Given the description of an element on the screen output the (x, y) to click on. 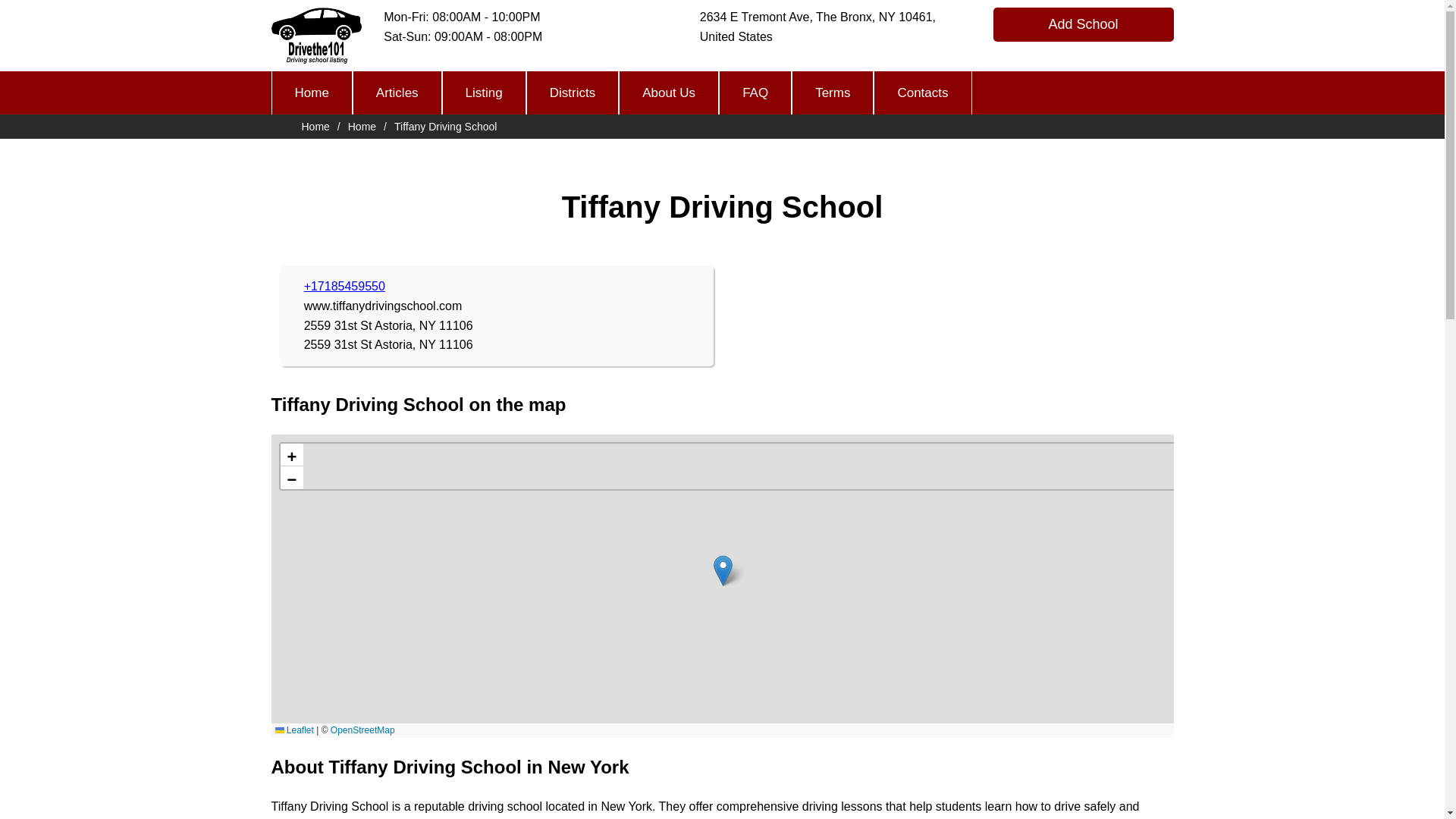
Home (361, 126)
Add School (1082, 24)
Terms (832, 92)
Home (315, 126)
OpenStreetMap (362, 729)
Leaflet (294, 729)
Zoom in (291, 454)
FAQ (755, 92)
A JavaScript library for interactive maps (294, 729)
Zoom out (291, 477)
About Us (668, 92)
Listing (483, 92)
Contacts (922, 92)
Districts (571, 92)
Home (311, 92)
